Given the description of an element on the screen output the (x, y) to click on. 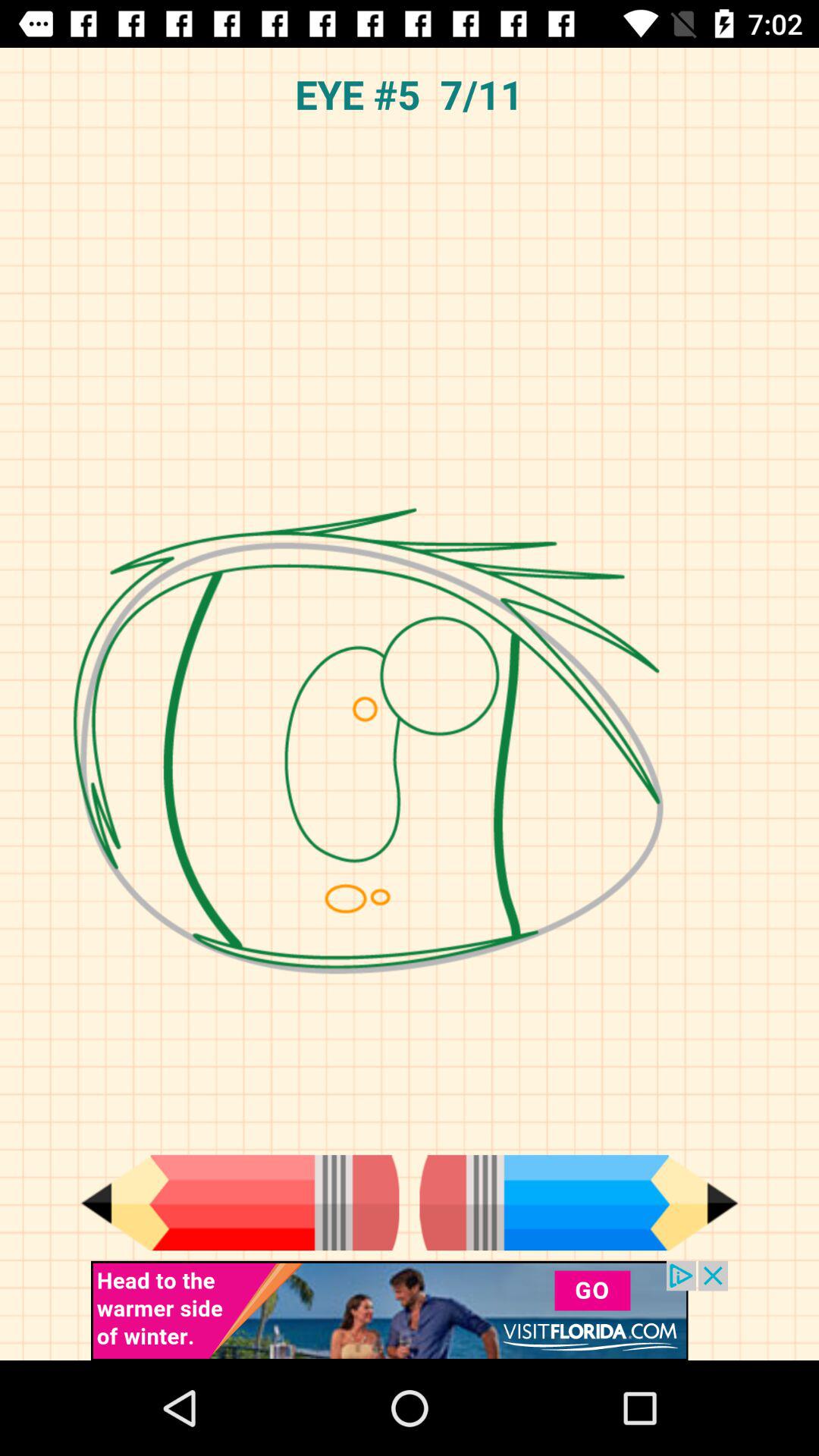
change color (239, 1202)
